Given the description of an element on the screen output the (x, y) to click on. 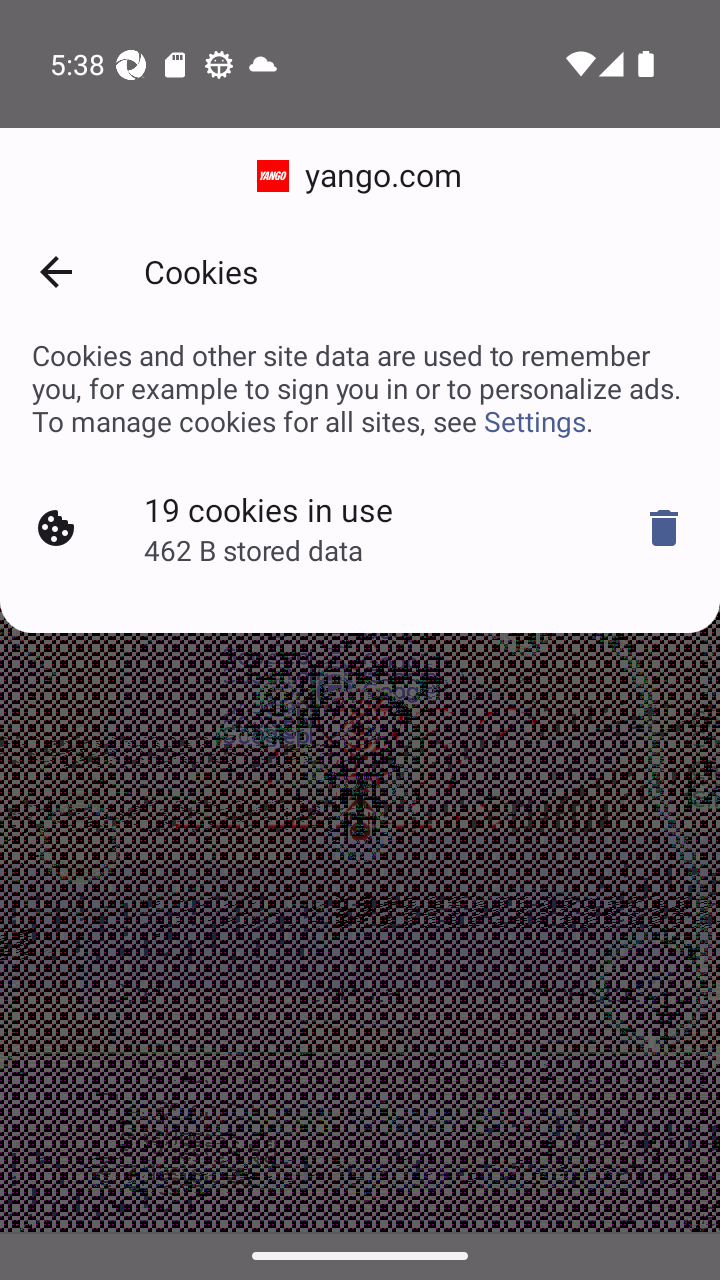
yango.com (360, 176)
Back (55, 272)
19 cookies in use 462 B stored data Clear cookies? (360, 528)
